Given the description of an element on the screen output the (x, y) to click on. 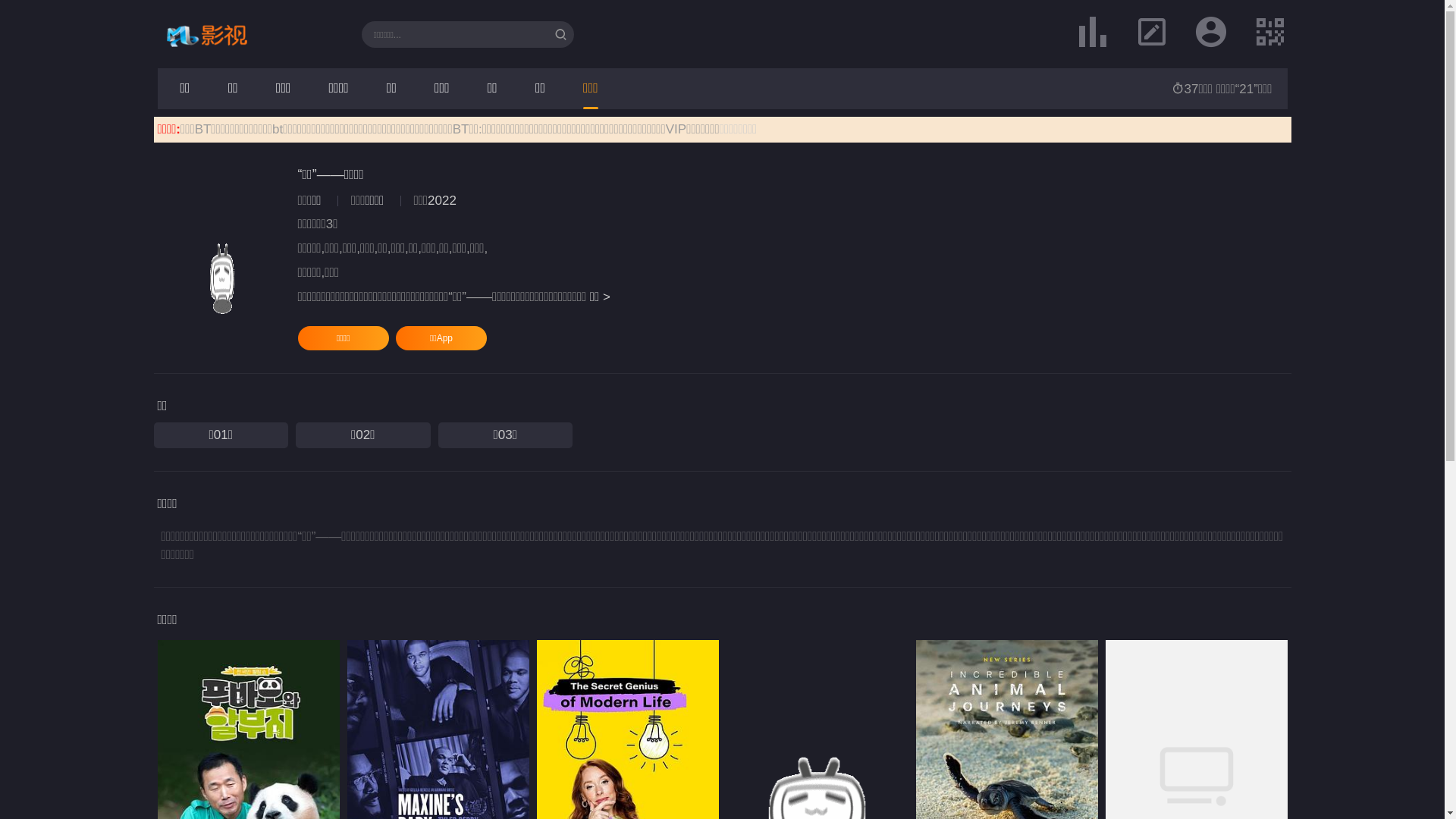
2022 Element type: text (441, 200)
